Given the description of an element on the screen output the (x, y) to click on. 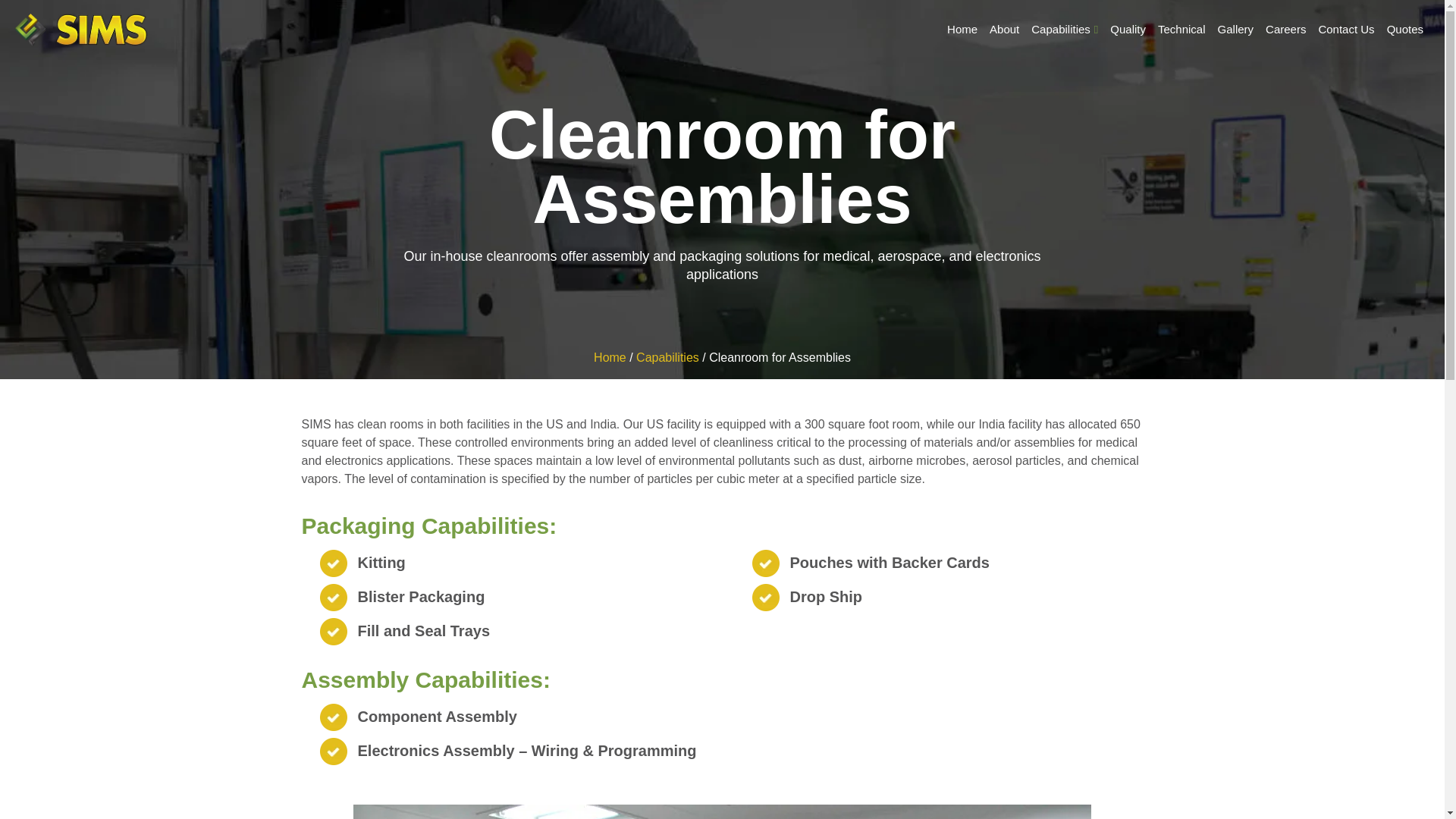
Home (610, 357)
Gallery (1235, 29)
Contact Us (1345, 29)
Technical (1181, 29)
Capabilities (1064, 29)
Capabilities (667, 357)
About (1004, 29)
Careers (1285, 29)
Quotes (1404, 29)
Home (962, 29)
